Given the description of an element on the screen output the (x, y) to click on. 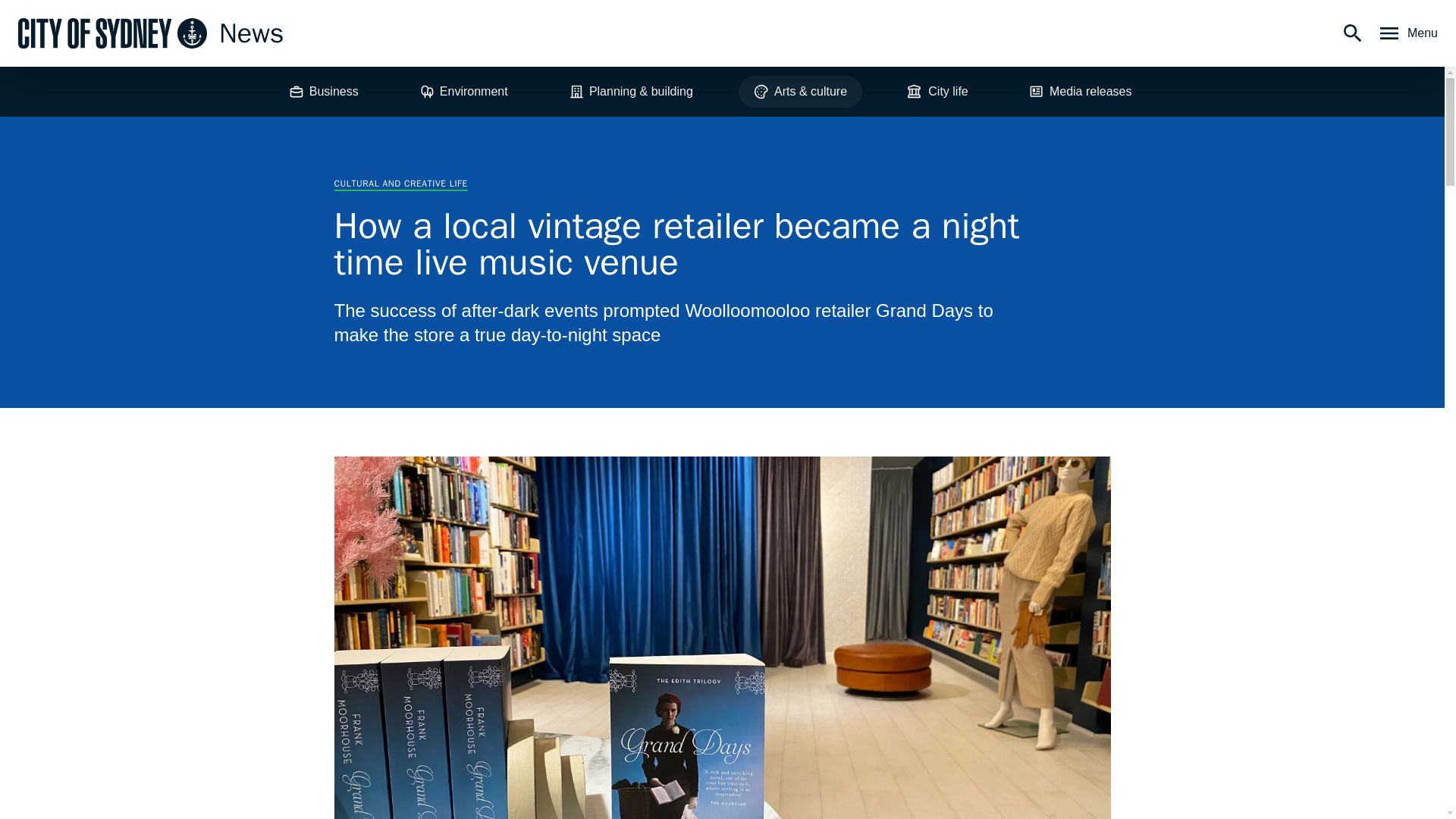
Search (1352, 33)
City life (938, 91)
News (150, 33)
Menu (1407, 33)
Media releases (1080, 91)
Environment (463, 91)
CULTURAL AND CREATIVE LIFE (400, 183)
Business (323, 91)
